Given the description of an element on the screen output the (x, y) to click on. 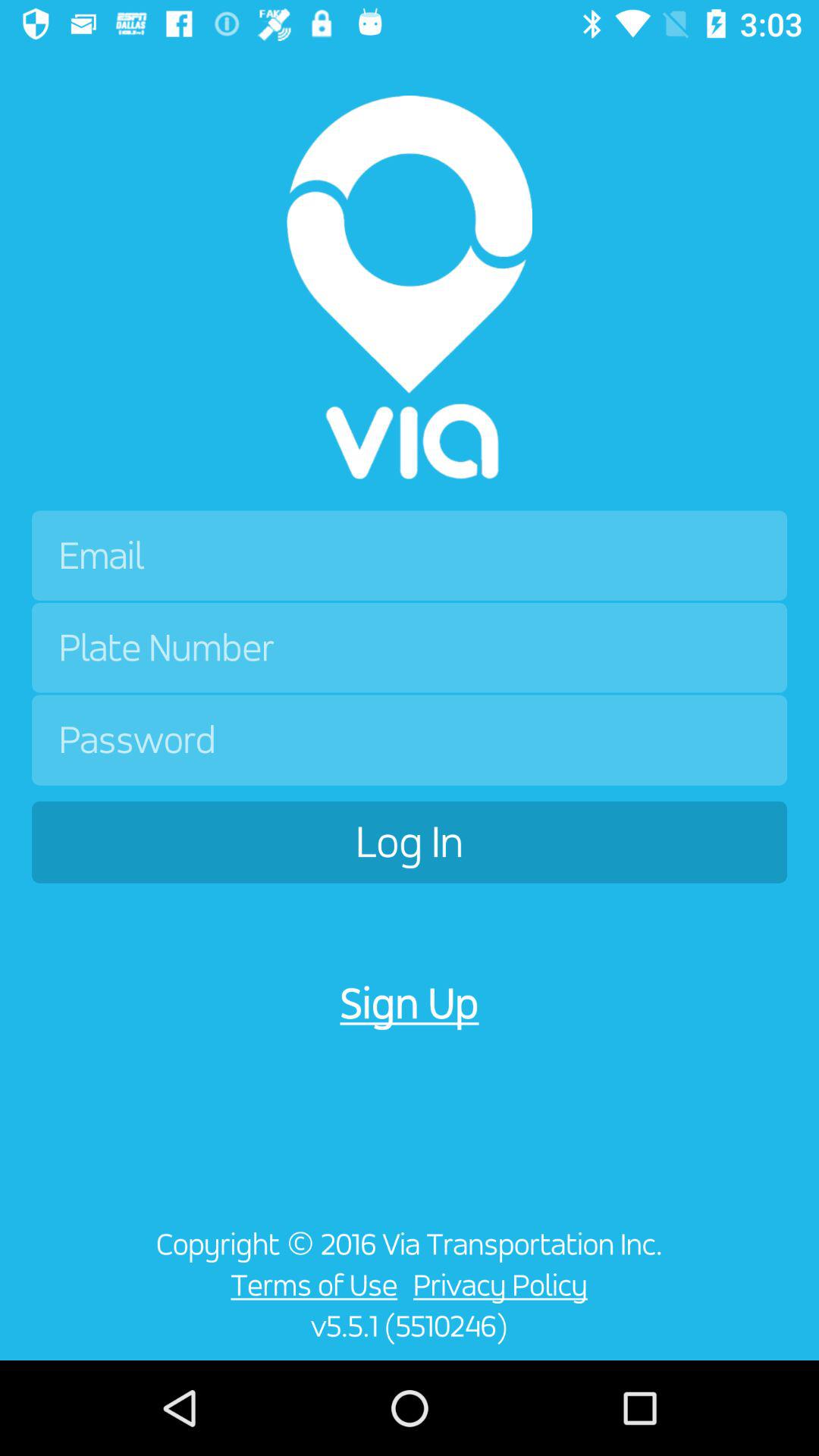
press the icon to the left of privacy policy icon (309, 1284)
